Given the description of an element on the screen output the (x, y) to click on. 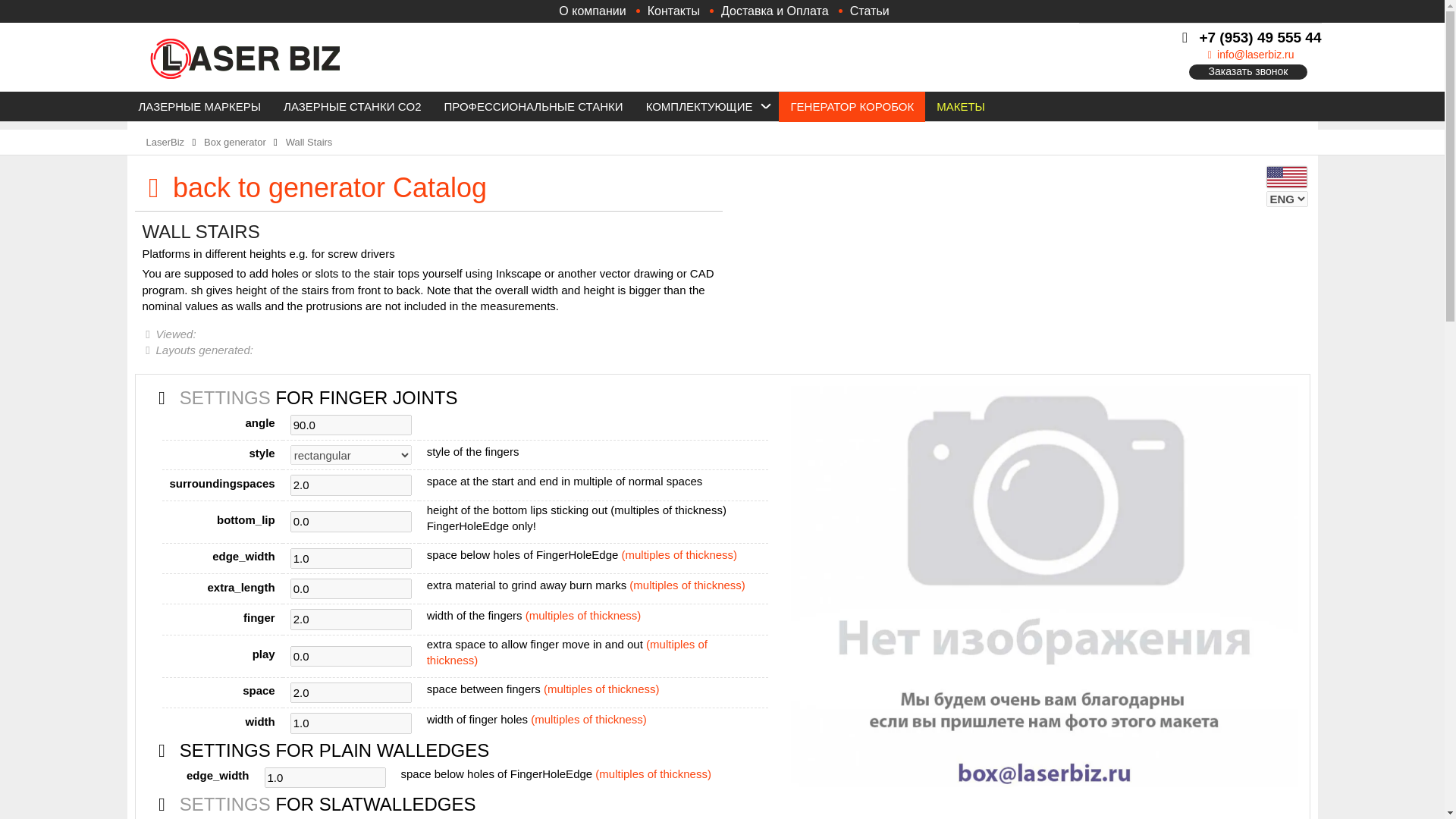
back to generator Catalog (428, 187)
90.0 (350, 424)
2.0 (350, 485)
LaserBiz (165, 142)
1.0 (350, 722)
2.0 (350, 619)
0.0 (350, 521)
2.0 (350, 692)
1.0 (350, 557)
1.0 (324, 777)
